Given the description of an element on the screen output the (x, y) to click on. 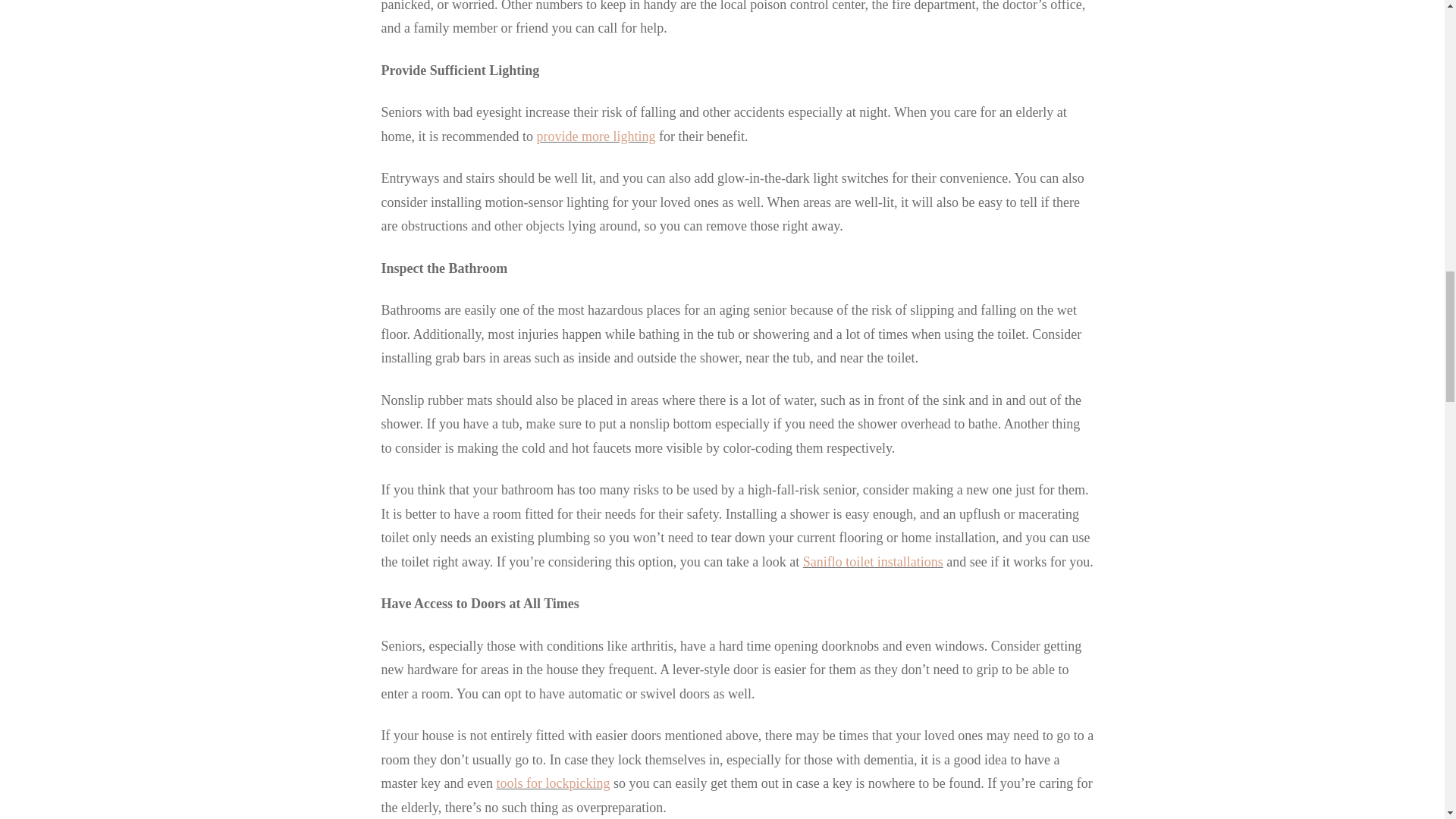
tools for lockpicking (553, 783)
provide more lighting (595, 136)
Saniflo toilet installations (873, 561)
